Given the description of an element on the screen output the (x, y) to click on. 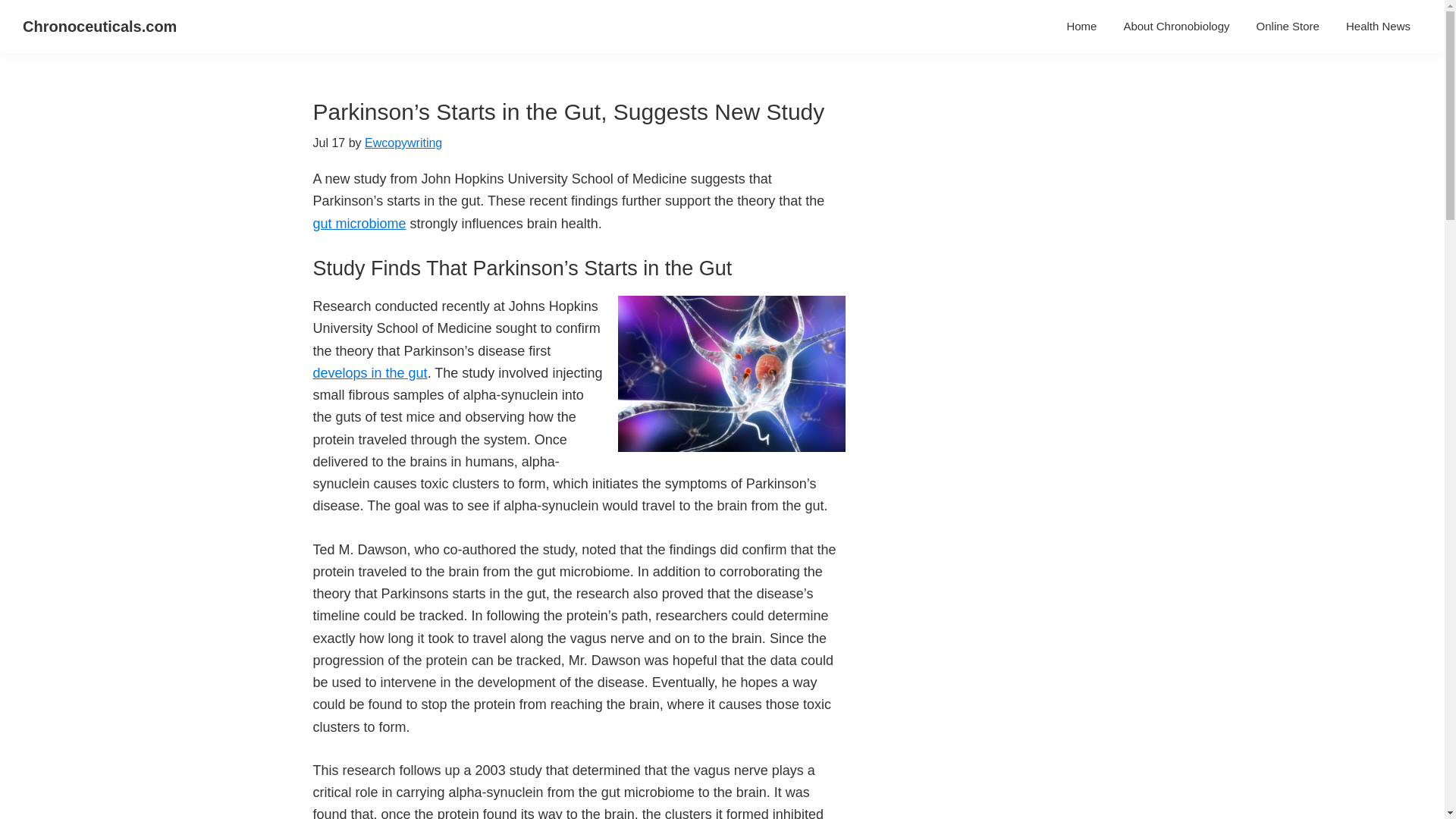
Chronoceuticals.com (99, 26)
Ewcopywriting (403, 142)
Online Store (1287, 25)
gut microbiome (359, 222)
develops in the gut (369, 372)
Parkinson's Starts in the Gut, Suggests New Study 5 (730, 373)
Home (1081, 25)
Health News (1378, 25)
About Chronobiology (1176, 25)
